Given the description of an element on the screen output the (x, y) to click on. 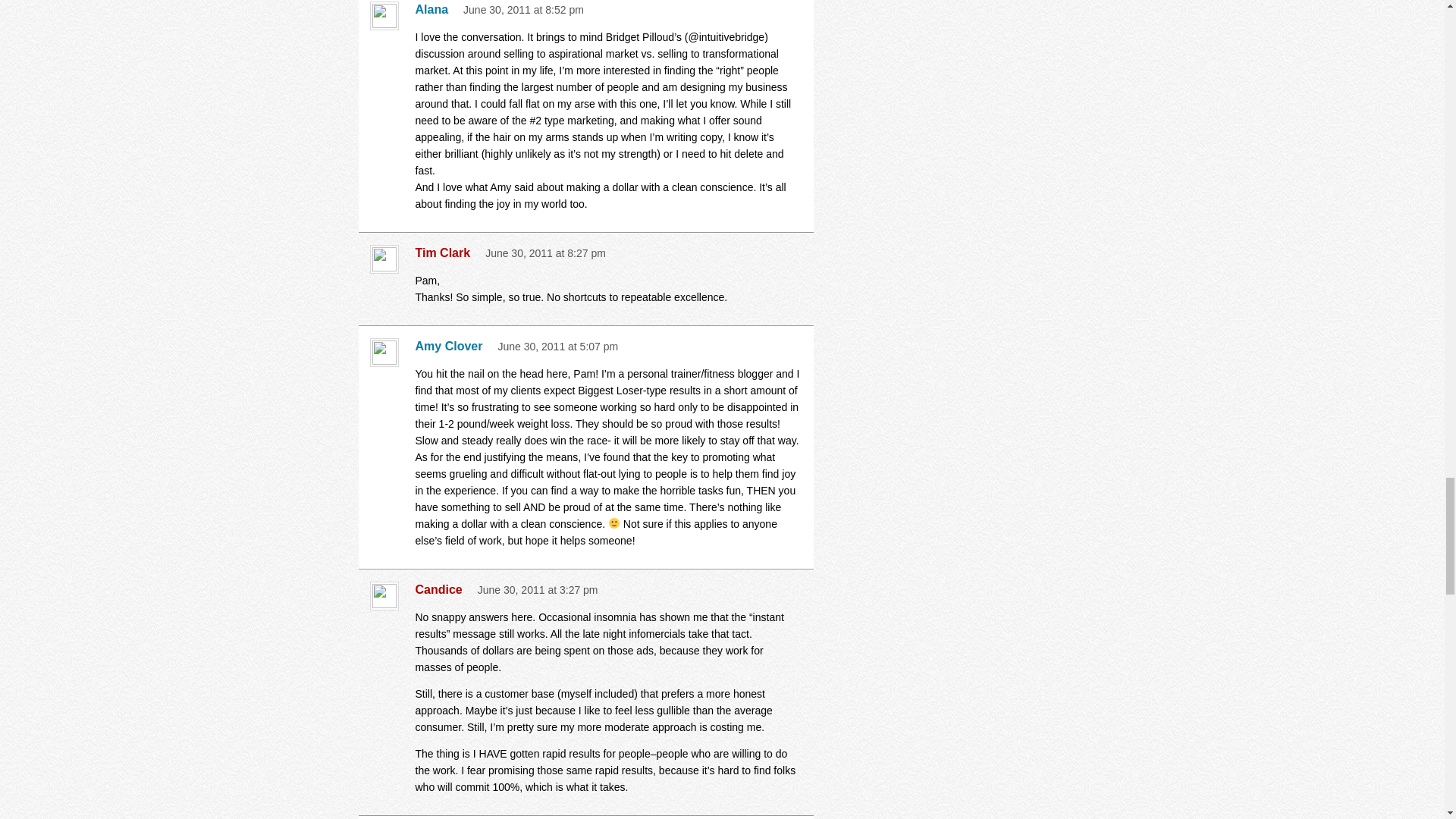
Candice (442, 589)
Tim Clark (446, 252)
Alana (435, 9)
Amy Clover (452, 346)
June 30, 2011 at 8:27 pm (544, 253)
June 30, 2011 at 3:27 pm (537, 589)
June 30, 2011 at 8:52 pm (523, 9)
June 30, 2011 at 5:07 pm (557, 346)
